Given the description of an element on the screen output the (x, y) to click on. 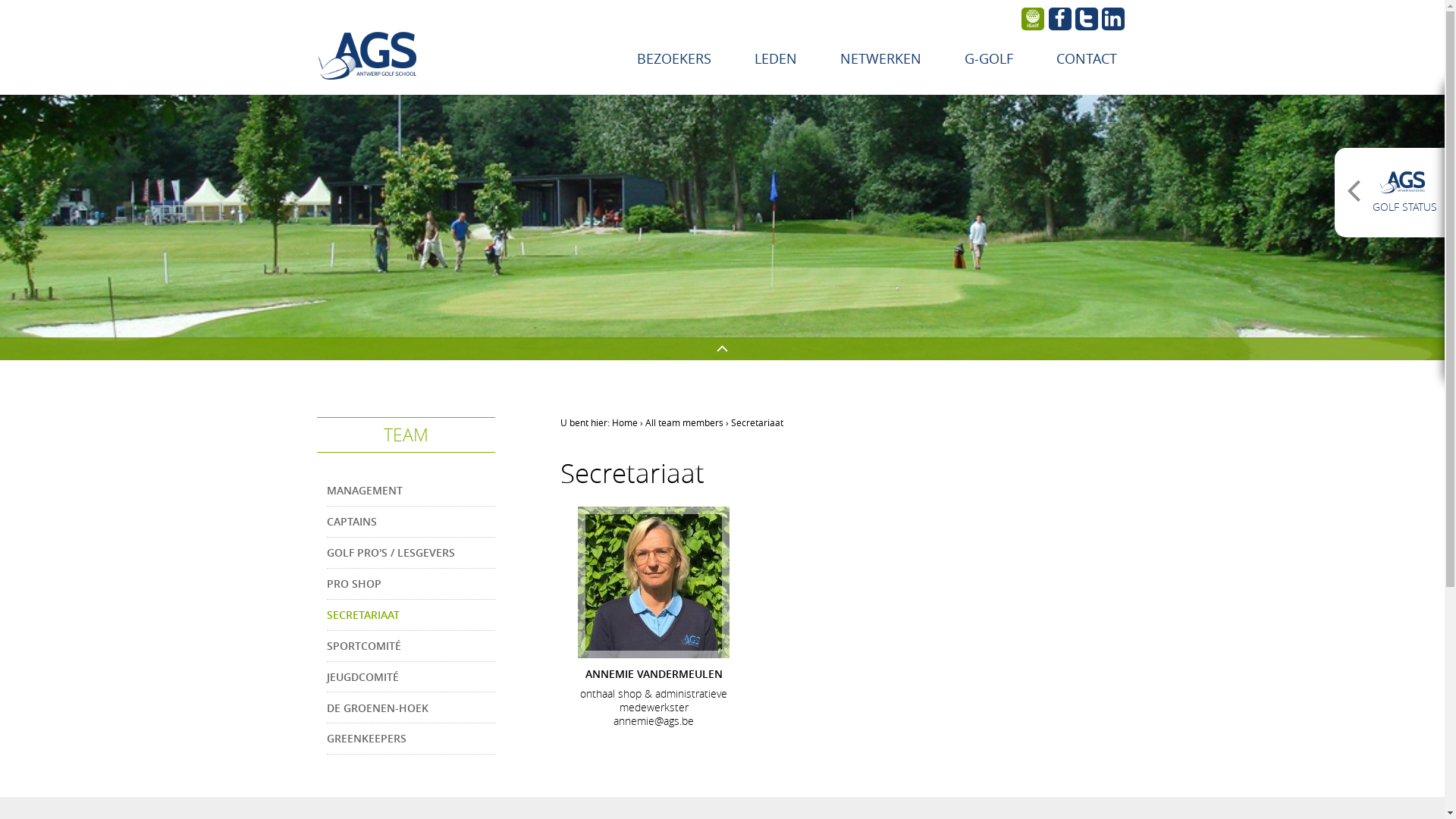
NETWERKEN Element type: text (880, 58)
PRO SHOP Element type: text (410, 583)
SECRETARIAAT Element type: text (410, 614)
DE GROENEN-HOEK Element type: text (410, 707)
GREENKEEPERS Element type: text (410, 738)
All team members Element type: text (683, 422)
LEDEN Element type: text (775, 58)
CAPTAINS Element type: text (410, 521)
CONTACT Element type: text (1086, 58)
G-GOLF Element type: text (987, 58)
Home Element type: text (624, 422)
TEAM Element type: text (405, 434)
BEZOEKERS Element type: text (673, 58)
GOLF PRO'S / LESGEVERS Element type: text (410, 552)
MANAGEMENT Element type: text (410, 490)
